Given the description of an element on the screen output the (x, y) to click on. 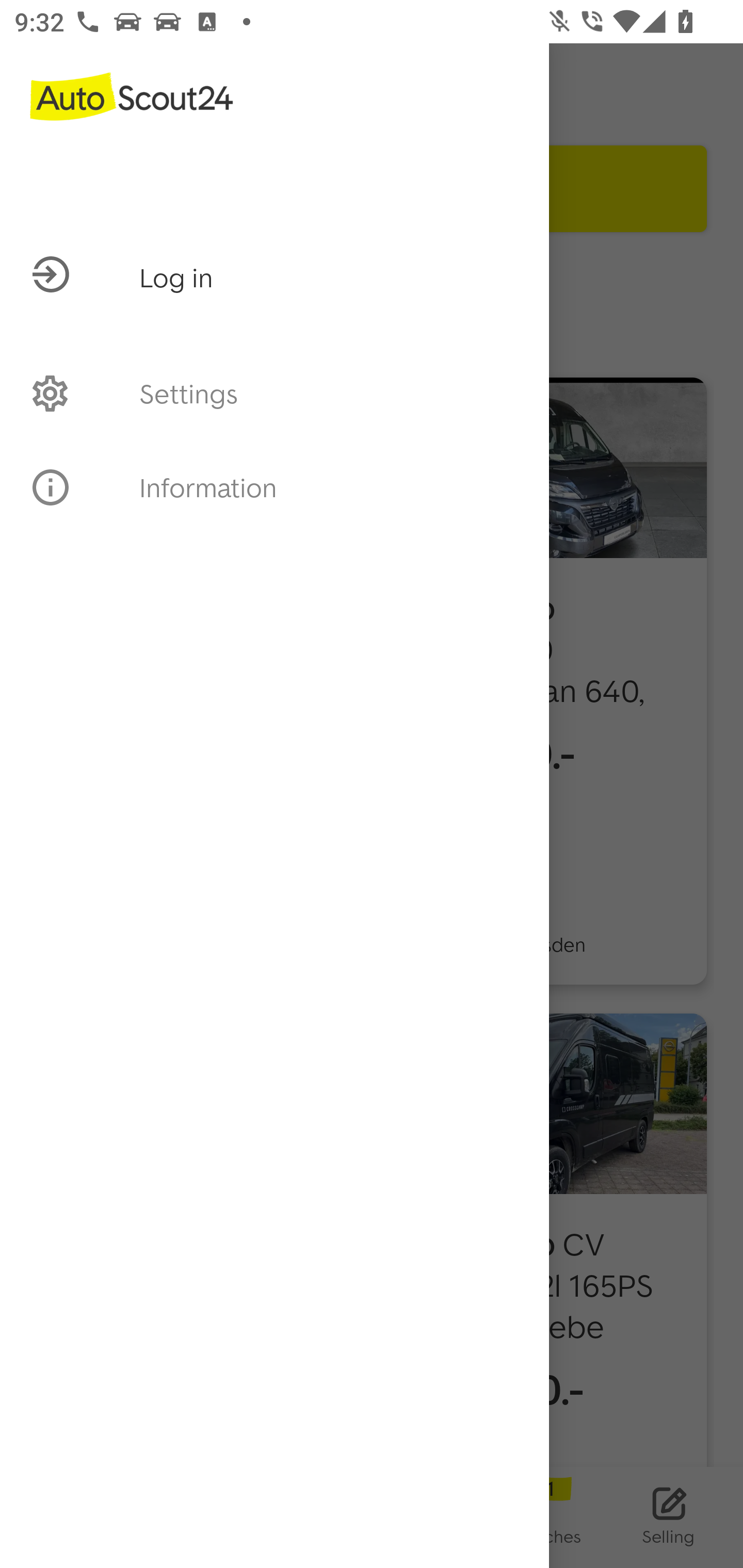
PROFILE Settings (274, 393)
INFO Information (274, 487)
